Given the description of an element on the screen output the (x, y) to click on. 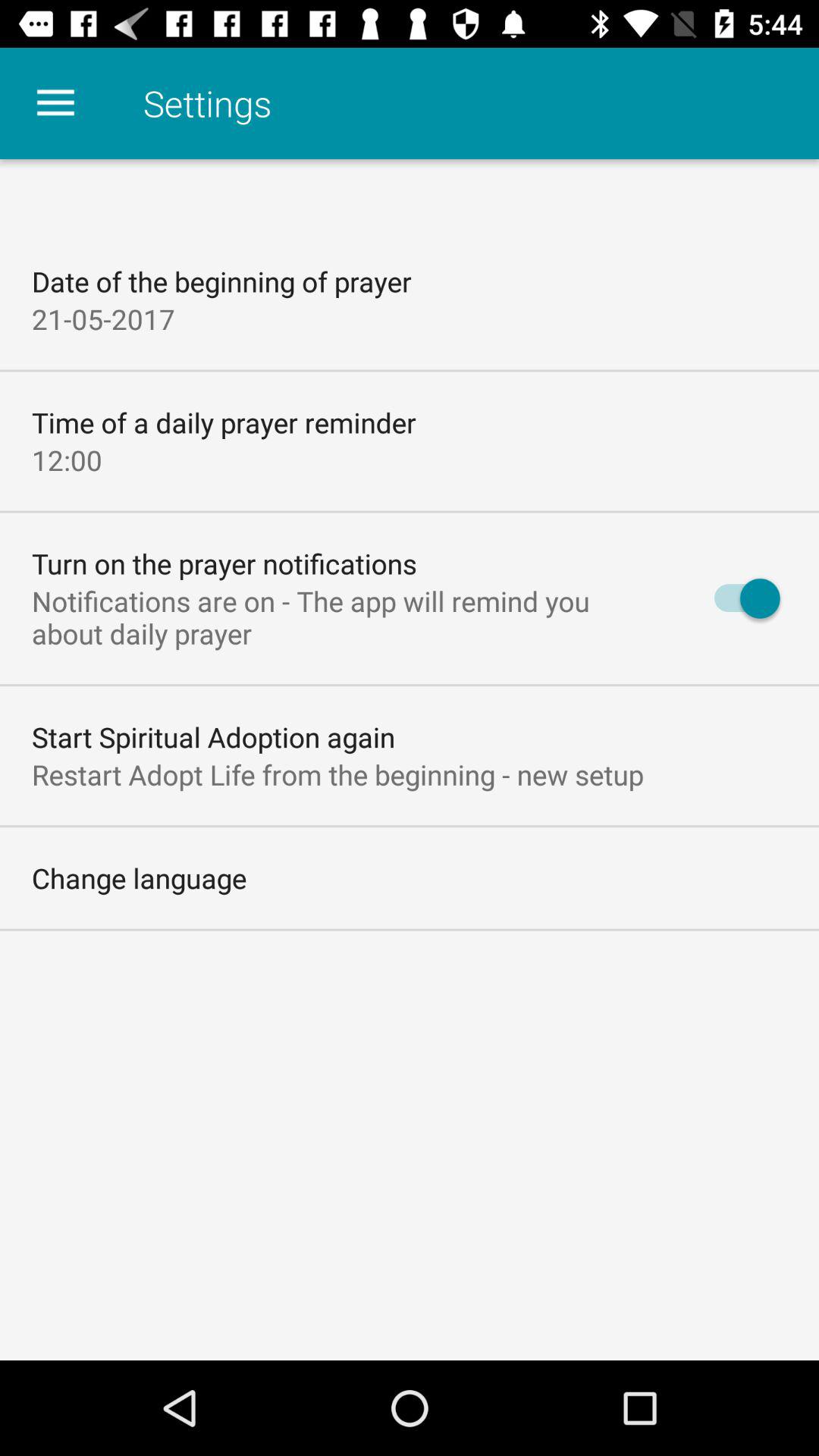
click item next to notifications are on icon (739, 598)
